Given the description of an element on the screen output the (x, y) to click on. 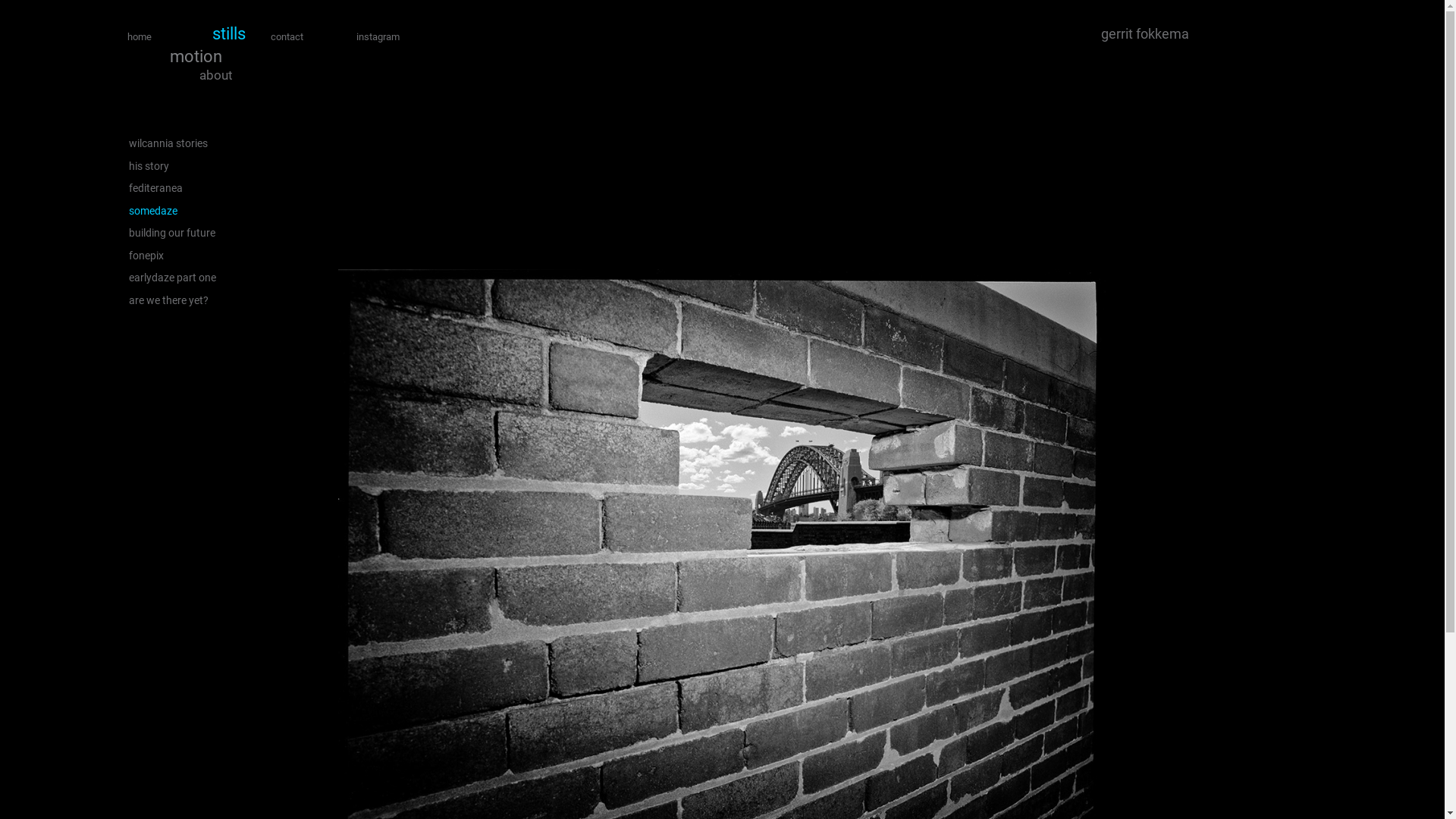
gerrit fokkema Element type: text (793, 33)
building our future Element type: text (172, 233)
his story Element type: text (172, 166)
fediteranea Element type: text (172, 188)
somedaze Element type: text (172, 210)
are we there yet? Element type: text (172, 299)
wilcannia stories Element type: text (172, 143)
home Element type: text (139, 36)
fonepix Element type: text (172, 255)
contact Element type: text (285, 36)
motion Element type: text (195, 56)
earlydaze part one Element type: text (172, 277)
stills Element type: text (228, 33)
about Element type: text (215, 75)
instagram Element type: text (377, 36)
